Given the description of an element on the screen output the (x, y) to click on. 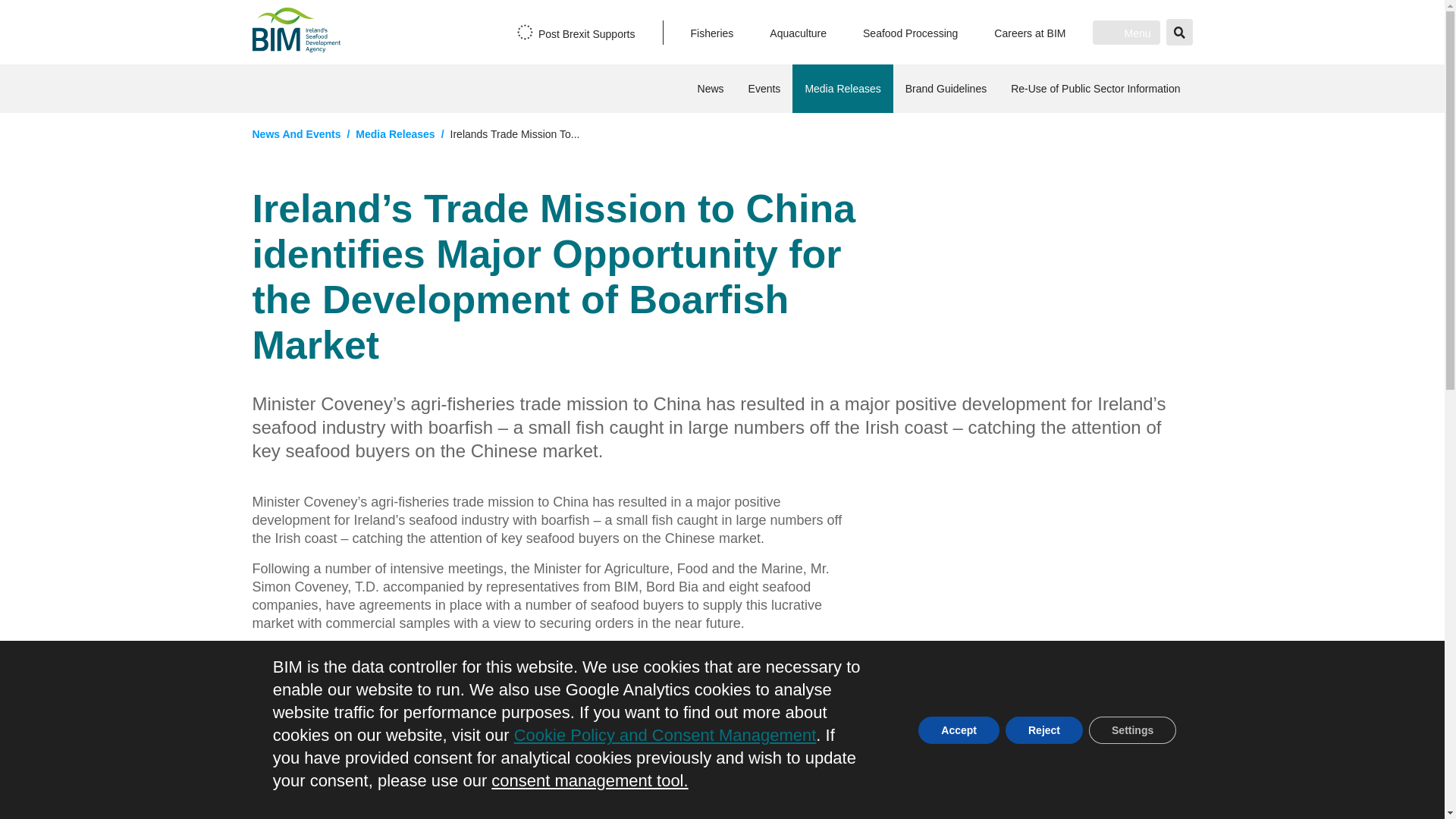
Re-Use of Public Sector Information (1095, 88)
Menu (1125, 31)
Aquaculture (797, 33)
Events (764, 88)
Seafood Processing (909, 33)
Brand Guidelines (945, 88)
News (710, 88)
Media Releases (842, 88)
Careers at BIM (1029, 33)
Fisheries (711, 33)
